Given the description of an element on the screen output the (x, y) to click on. 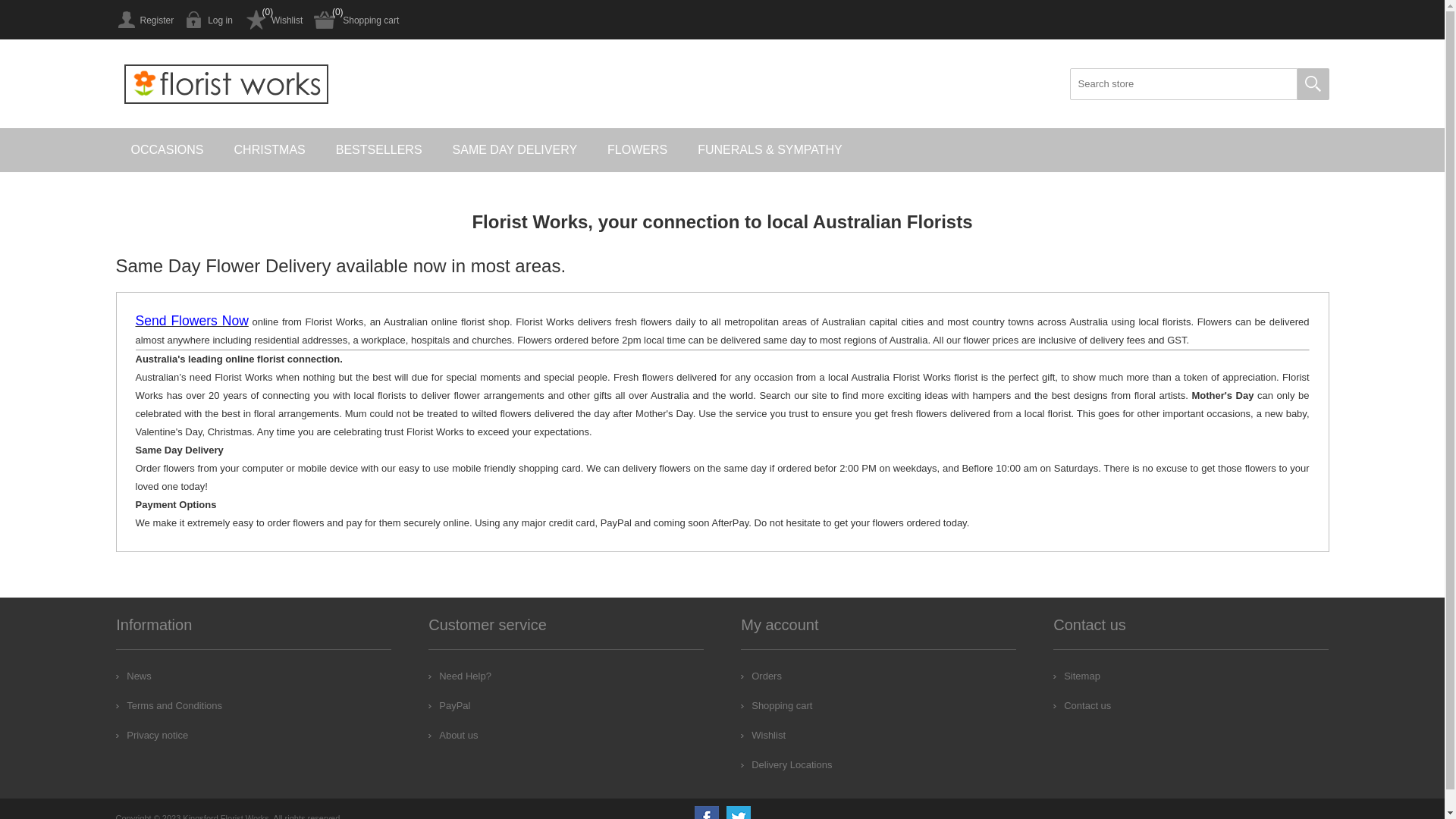
Shopping cart Element type: text (776, 705)
Privacy notice Element type: text (152, 734)
Wishlist Element type: text (273, 19)
Wishlist Element type: text (762, 734)
Need Help? Element type: text (459, 675)
CHRISTMAS Element type: text (269, 150)
SAME DAY DELIVERY Element type: text (515, 150)
Orders Element type: text (760, 675)
Log in Element type: text (208, 19)
About us Element type: text (452, 734)
Sitemap Element type: text (1076, 675)
FLOWERS Element type: text (637, 150)
Shopping cart Element type: text (355, 19)
Contact us Element type: text (1081, 705)
Search Element type: text (1312, 84)
BESTSELLERS Element type: text (378, 150)
Terms and Conditions Element type: text (169, 705)
PayPal Element type: text (449, 705)
News Element type: text (133, 675)
Register Element type: text (144, 19)
Delivery Locations Element type: text (785, 764)
OCCASIONS Element type: text (166, 150)
FUNERALS & SYMPATHY Element type: text (769, 150)
Send Flowers Now Element type: text (190, 321)
